Given the description of an element on the screen output the (x, y) to click on. 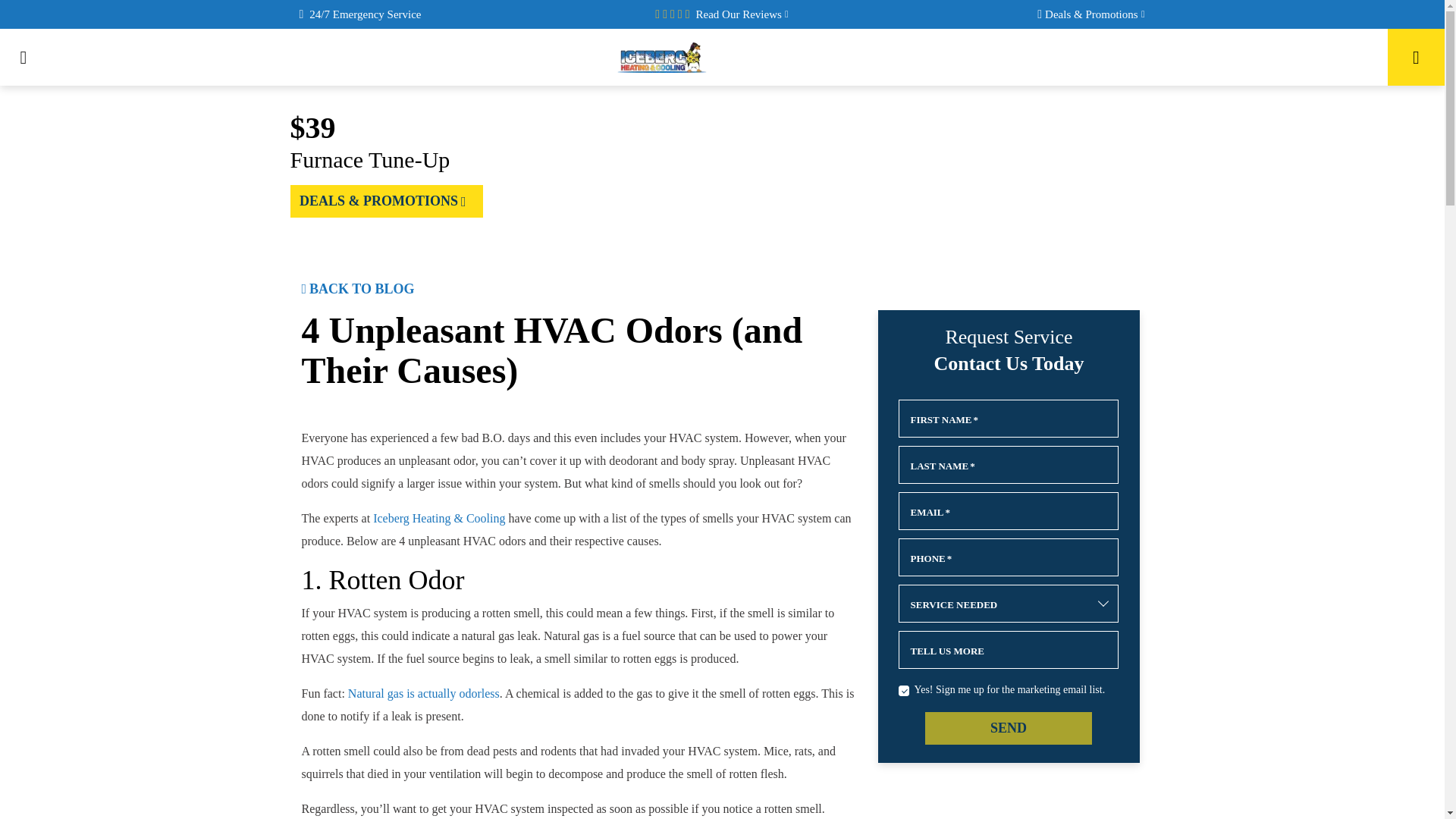
Read Our Reviews (742, 13)
Yes! Sign me up for the marketing email list. (903, 690)
Read Our Reviews (742, 13)
